Given the description of an element on the screen output the (x, y) to click on. 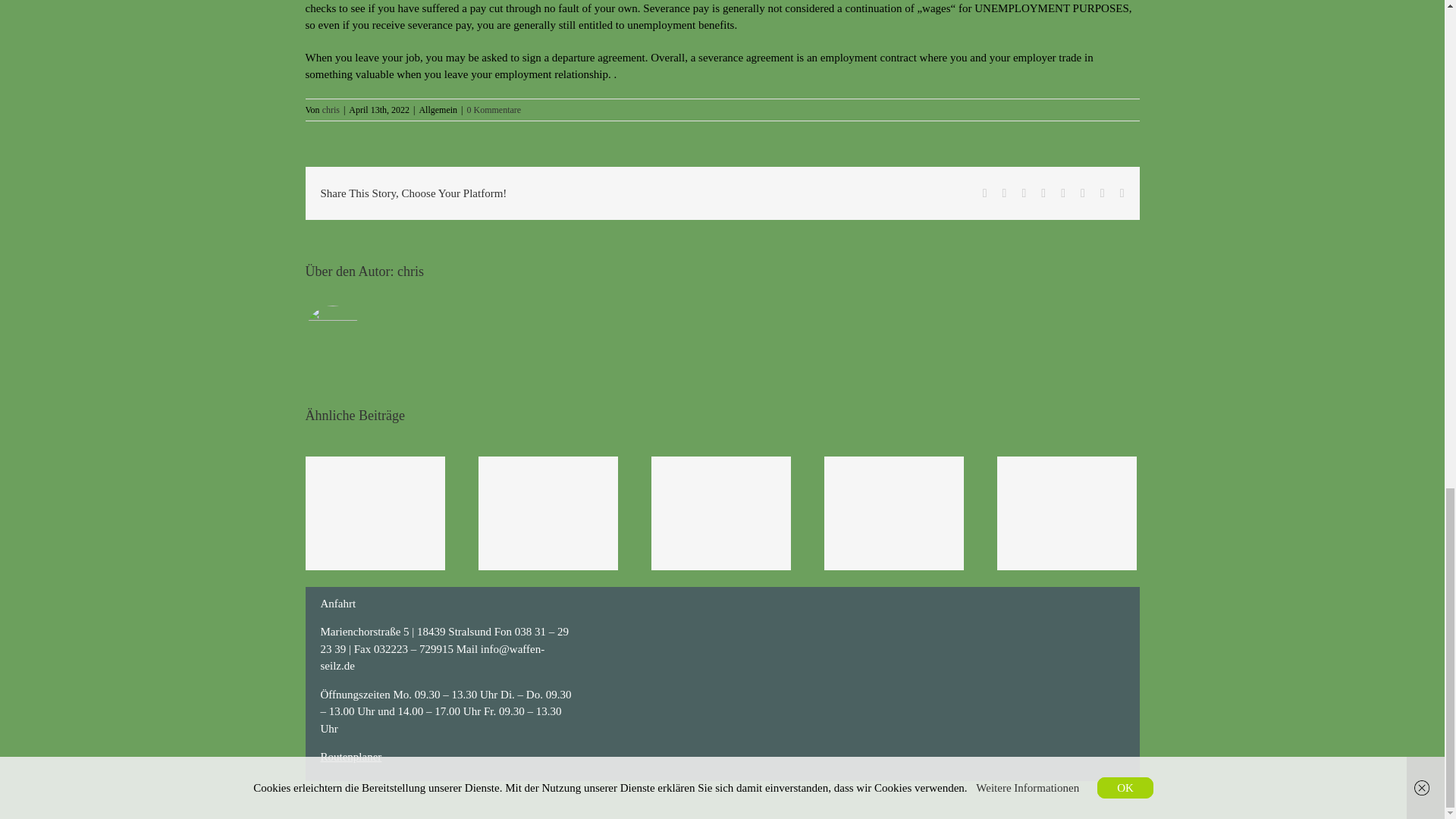
chris (410, 271)
chris (330, 109)
0 Kommentare (494, 109)
Routenplaner (350, 756)
